Given the description of an element on the screen output the (x, y) to click on. 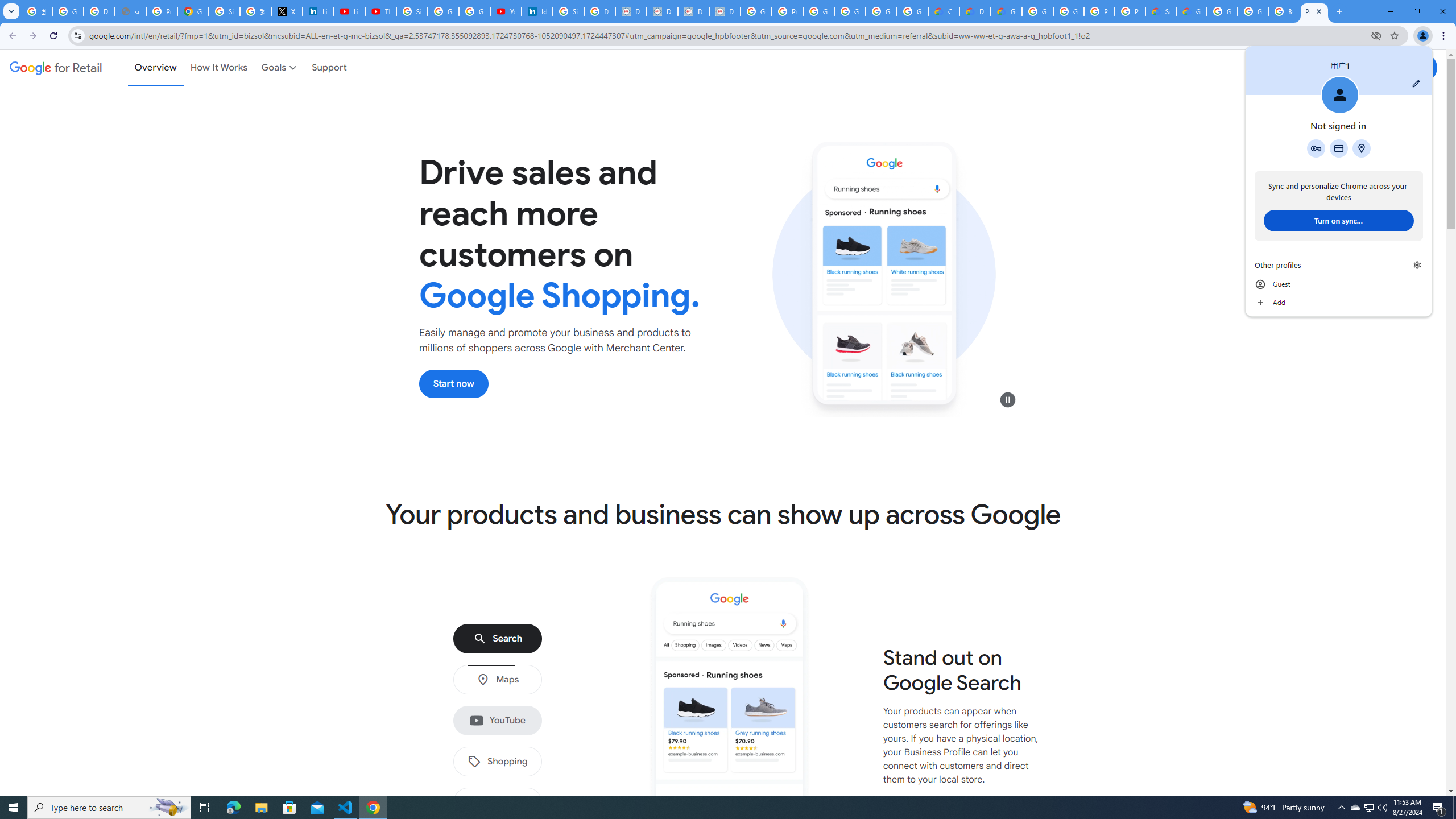
Goals (279, 67)
Google Password Manager (1315, 148)
Notification Chevron (1341, 807)
Google Cloud Platform (1068, 11)
Data Privacy Framework (631, 11)
Data Privacy Framework (662, 11)
Images (496, 802)
Goals (279, 67)
LinkedIn Privacy Policy (318, 11)
